Given the description of an element on the screen output the (x, y) to click on. 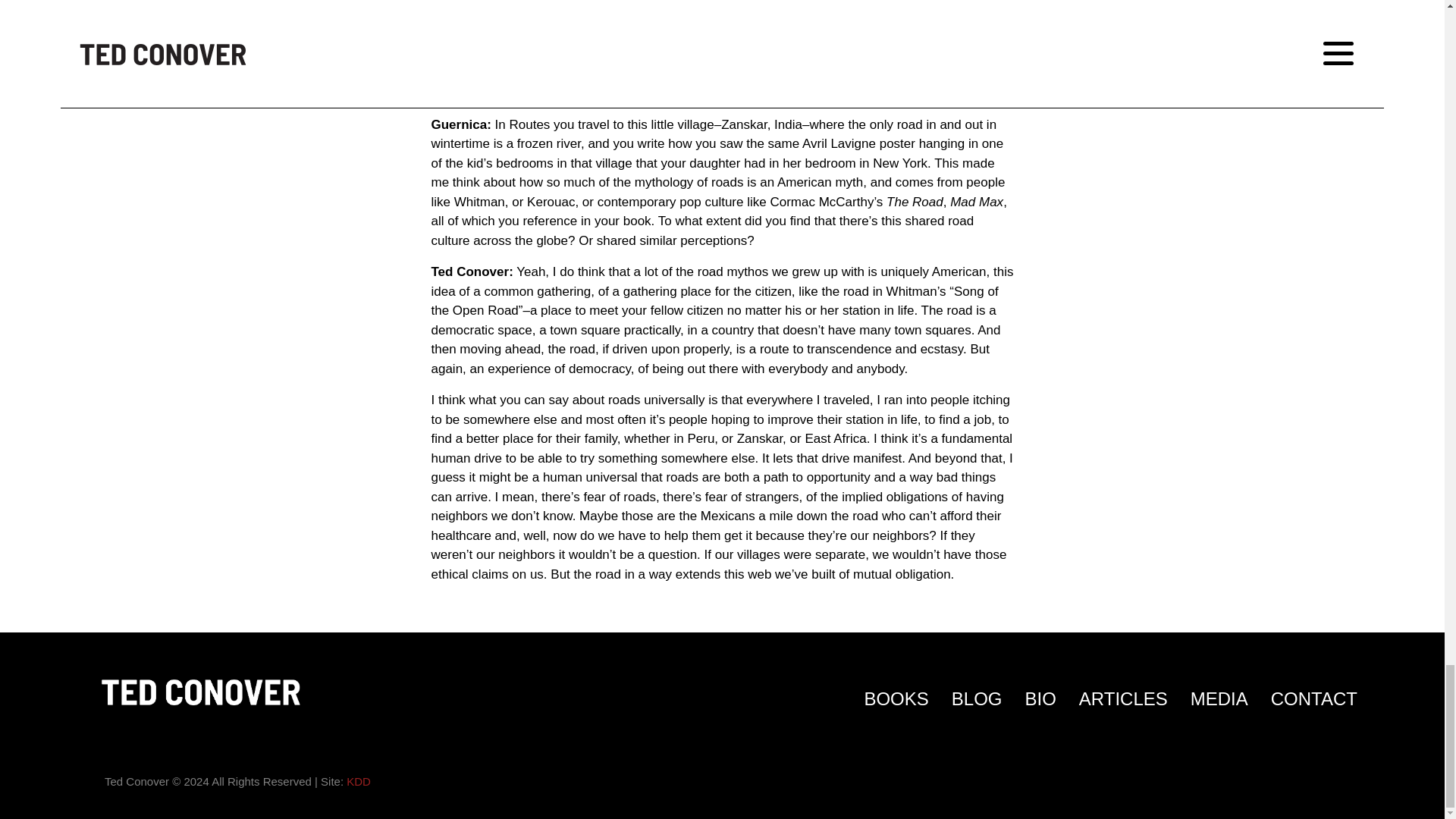
KDD (358, 780)
ARTICLES (1122, 698)
MEDIA (1219, 698)
BLOG (977, 698)
BOOKS (895, 698)
CONTACT (1313, 698)
BIO (1040, 698)
